Given the description of an element on the screen output the (x, y) to click on. 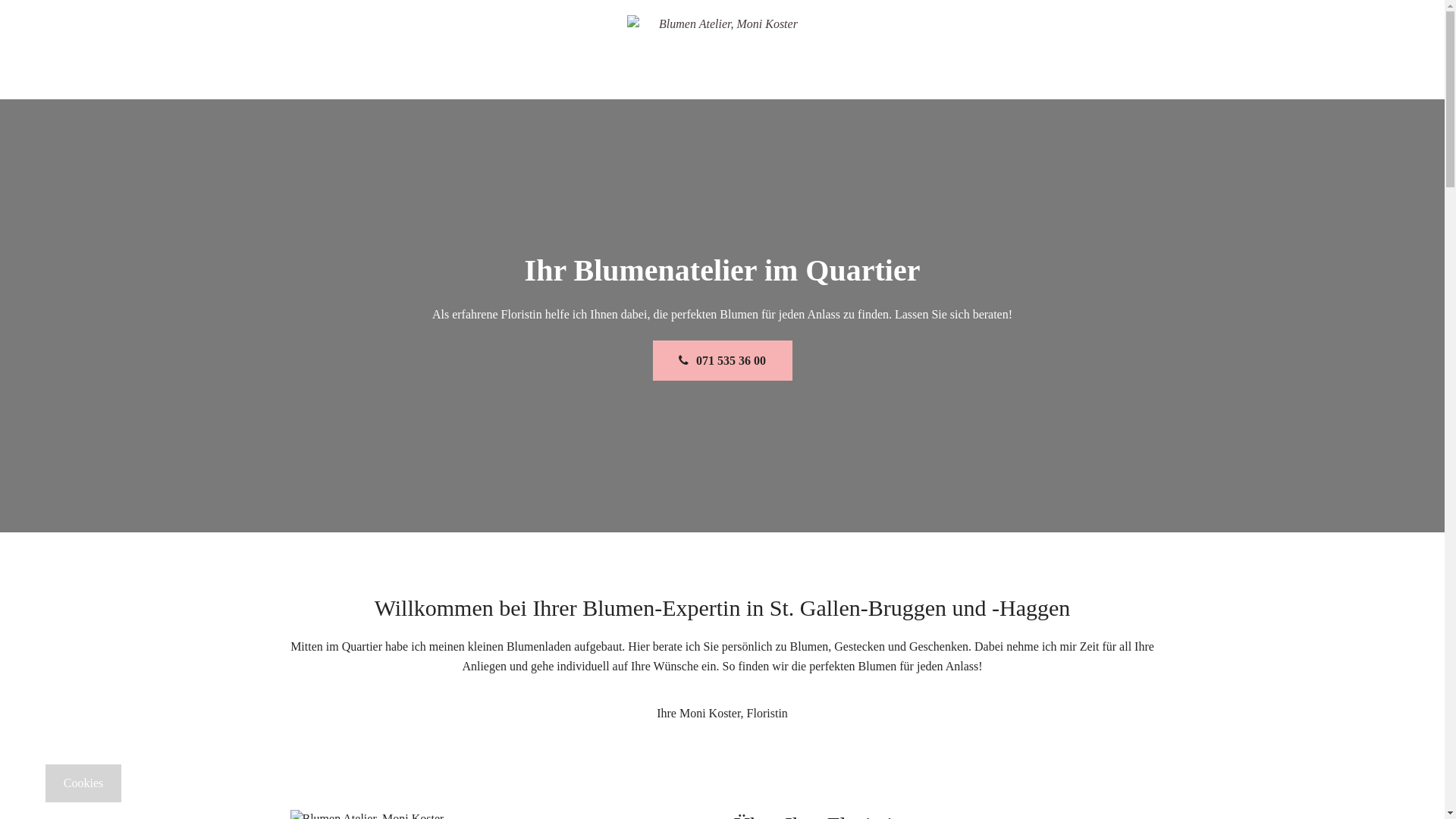
071 535 36 00 Element type: text (721, 360)
Cookies Element type: text (83, 783)
